Given the description of an element on the screen output the (x, y) to click on. 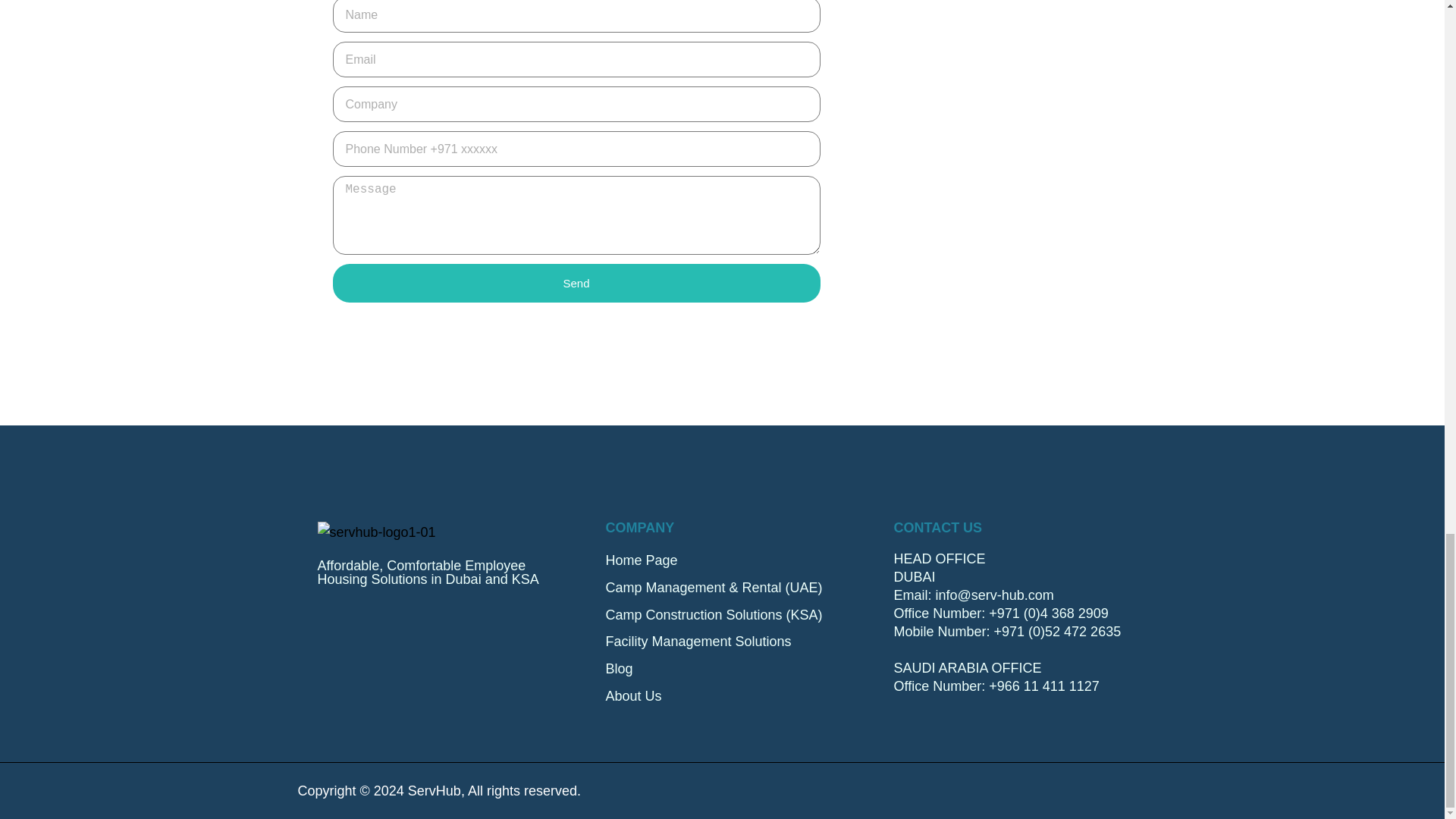
servhub-logo1-01 (376, 532)
Home Page (721, 560)
Send (575, 282)
